Given the description of an element on the screen output the (x, y) to click on. 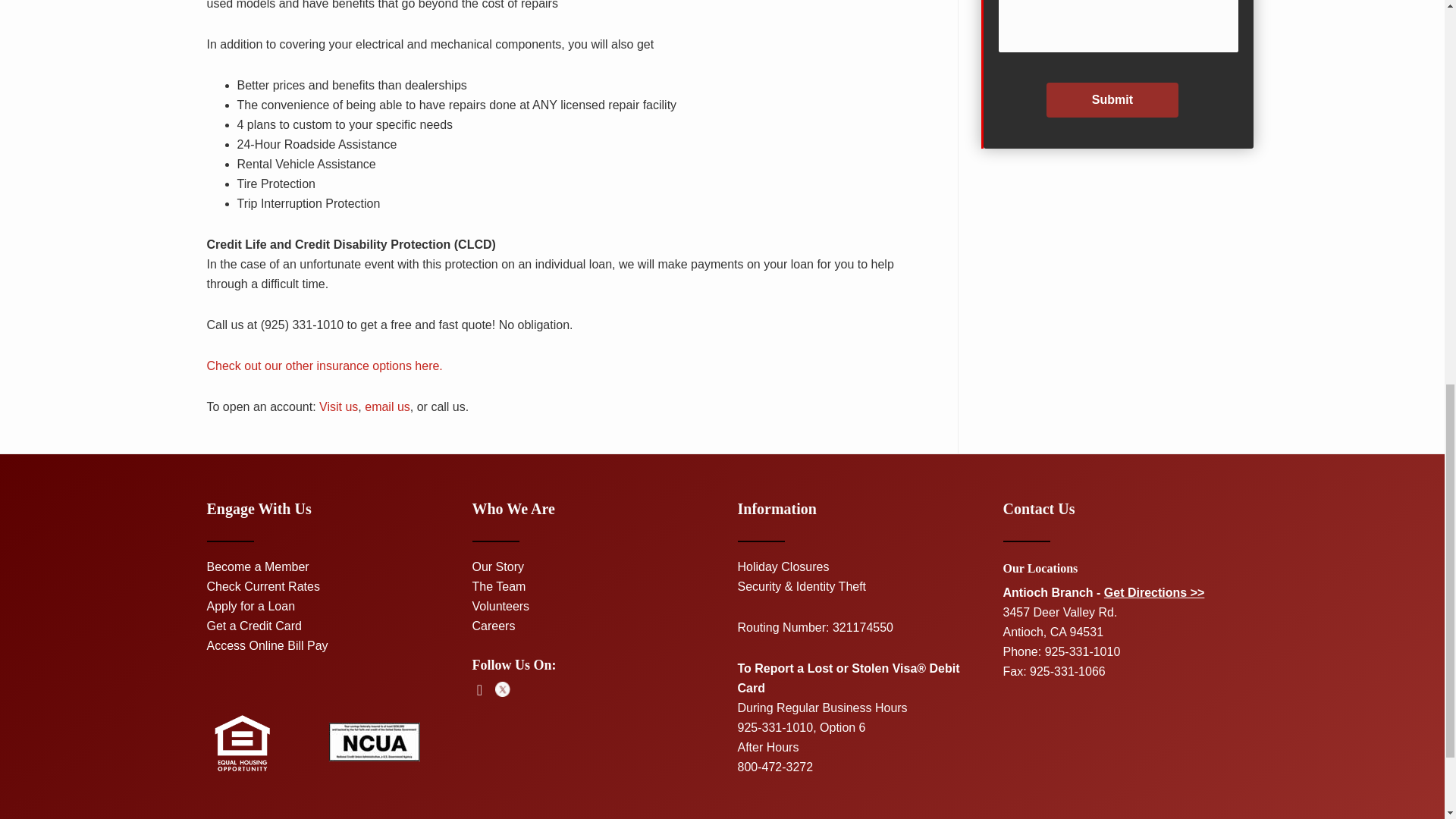
Submit (1111, 99)
ehowhite (241, 742)
image005 (374, 741)
